Given the description of an element on the screen output the (x, y) to click on. 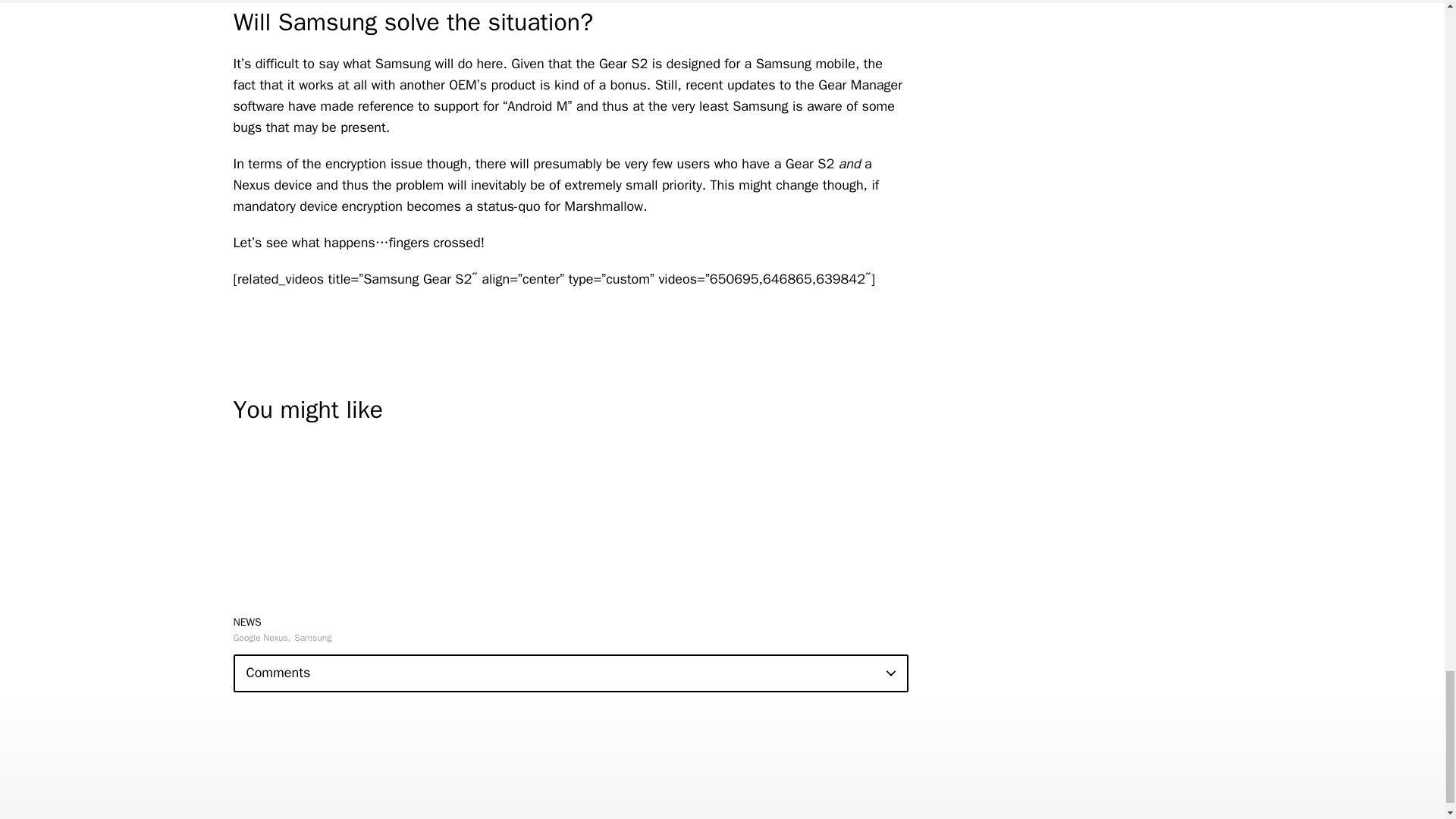
Google Nexus (261, 637)
NEWS (247, 621)
Comments (570, 673)
Samsung (312, 637)
